Given the description of an element on the screen output the (x, y) to click on. 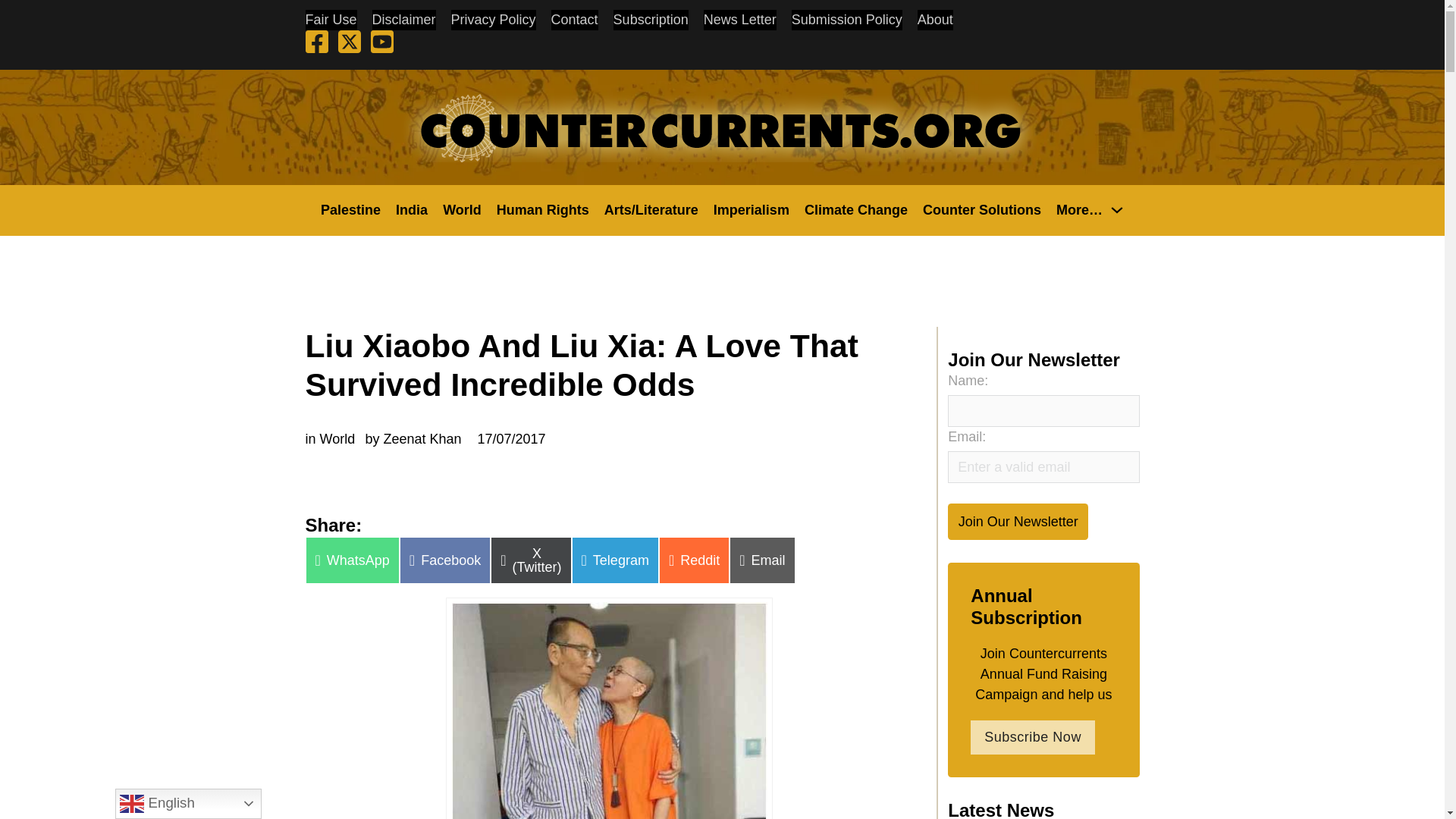
Human Rights (542, 209)
News Letter (739, 19)
Palestine (350, 209)
World (461, 209)
Privacy Policy (493, 19)
Join Our Newsletter (1017, 520)
Disclaimer (403, 19)
Climate Change (856, 209)
Submission Policy (847, 19)
India (412, 209)
Subscription (650, 19)
Imperialism (751, 209)
Contact (574, 19)
Counter Solutions (982, 209)
